Given the description of an element on the screen output the (x, y) to click on. 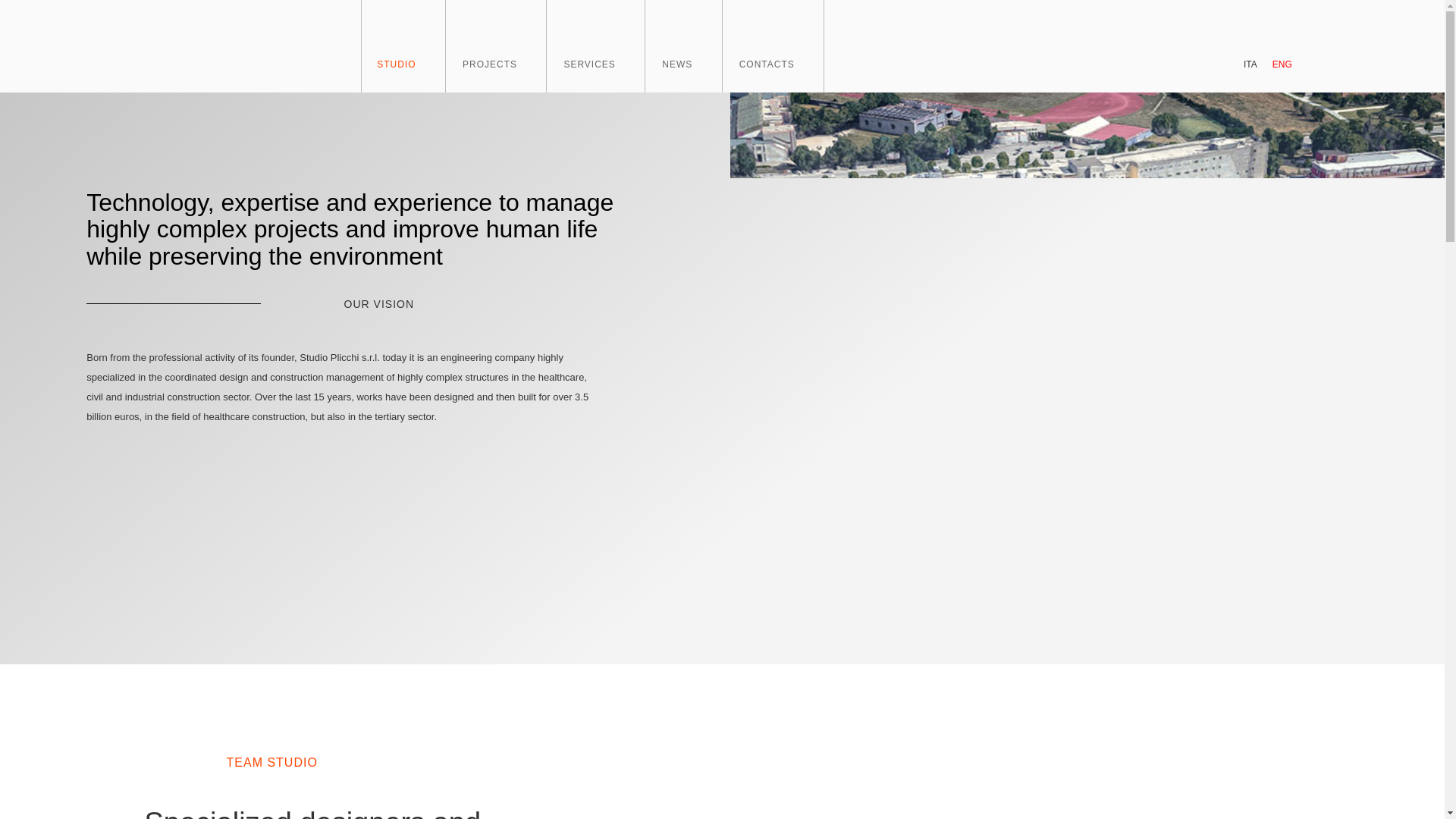
CONTACTS (782, 46)
ENG (1282, 64)
PROJECTS (505, 46)
ITA (1250, 64)
